Given the description of an element on the screen output the (x, y) to click on. 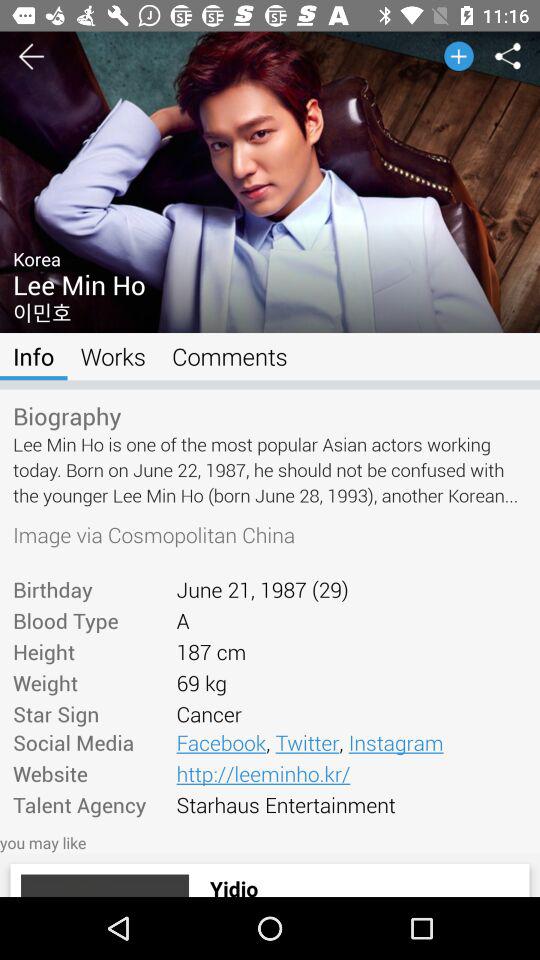
tap icon below the you may like (104, 885)
